Given the description of an element on the screen output the (x, y) to click on. 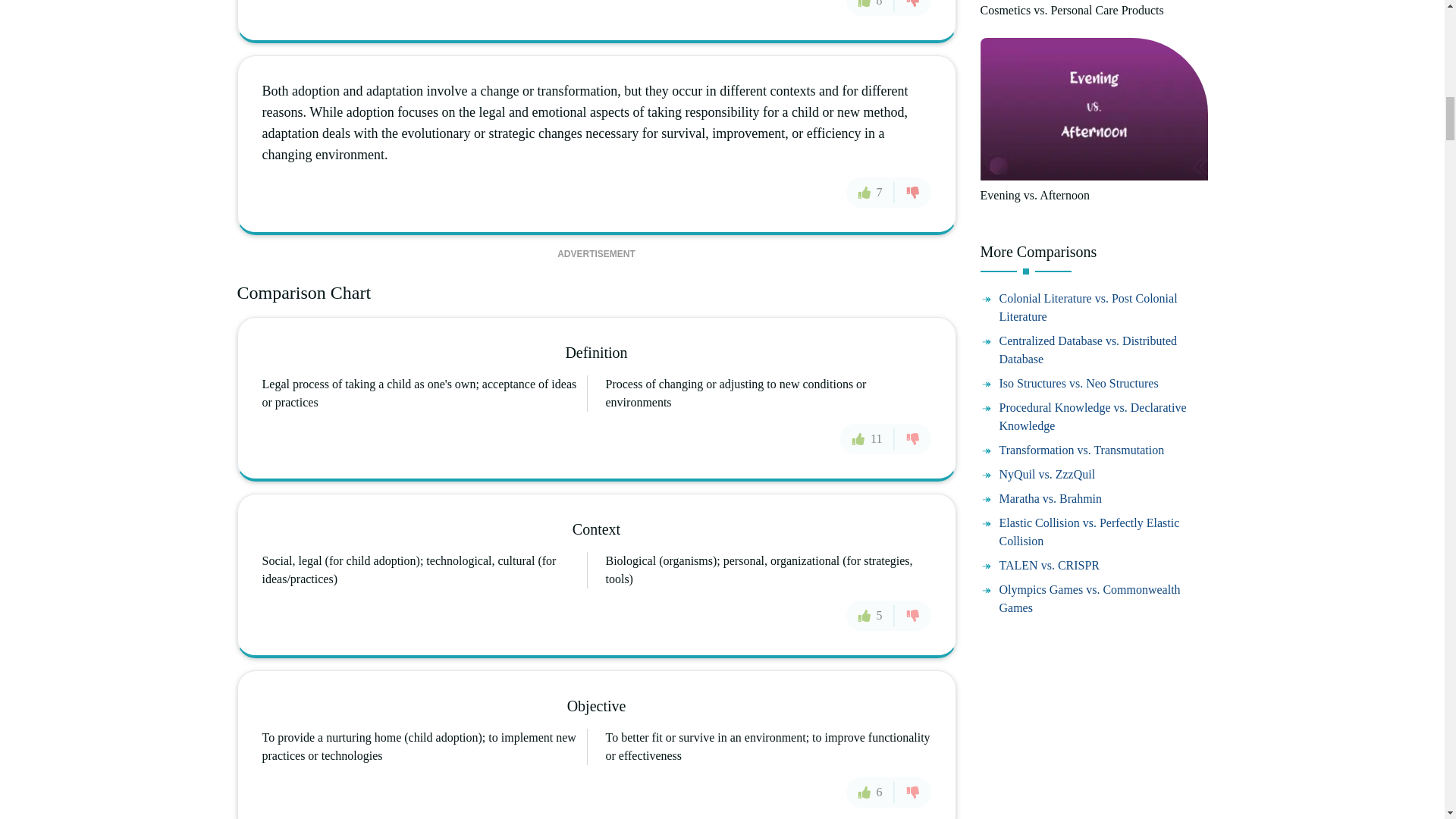
8 (870, 7)
7 (870, 192)
5 (870, 615)
11 (866, 439)
6 (870, 792)
